Given the description of an element on the screen output the (x, y) to click on. 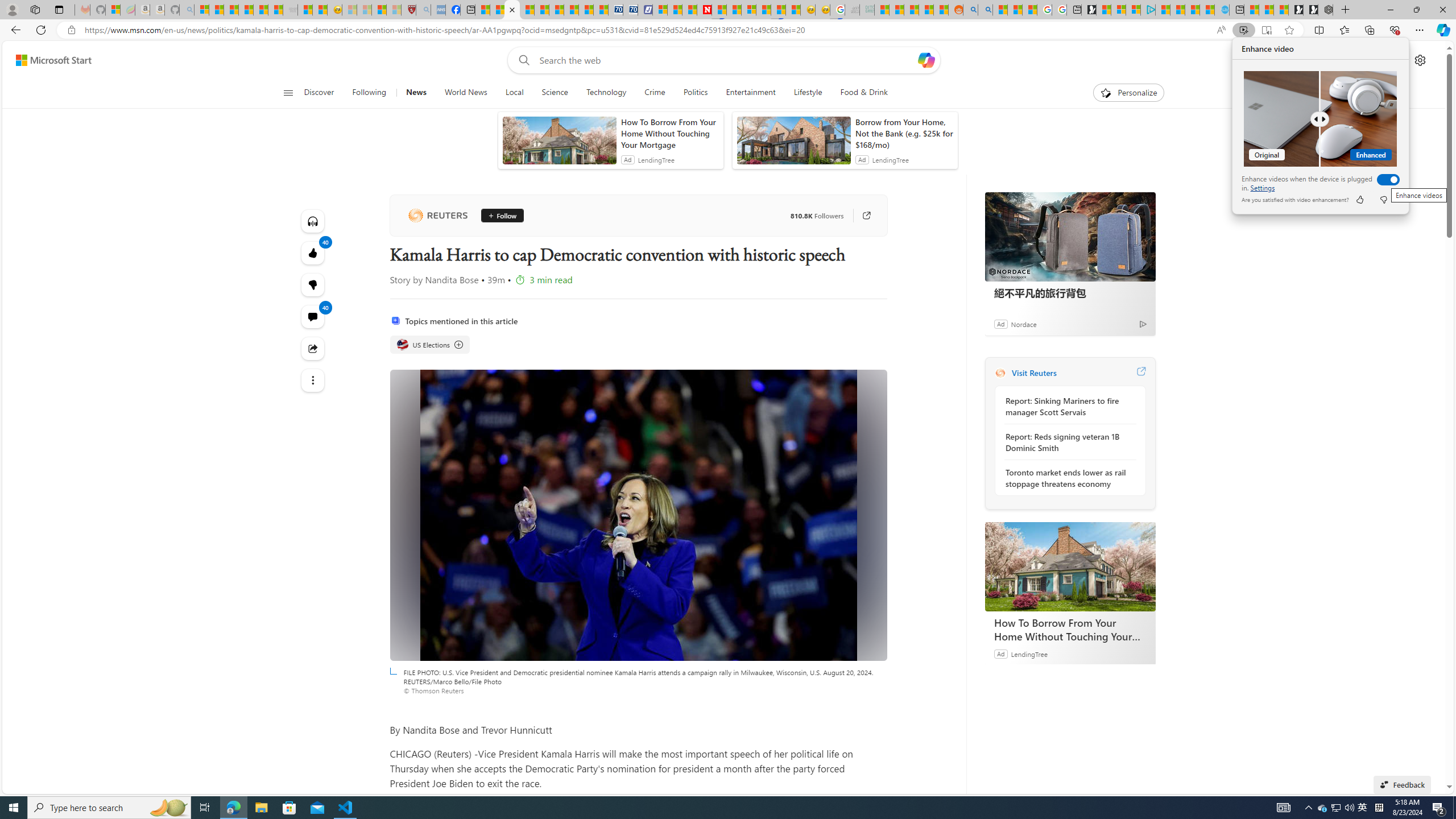
Running applications (700, 807)
Enhance videos (1385, 179)
Lifestyle (1322, 807)
Web search (807, 92)
News (520, 60)
Personalize (415, 92)
Politics (1128, 92)
12 Popular Science Lies that Must be Corrected - Sleeping (694, 92)
New tab (393, 9)
dislike (1236, 9)
Action Center, 2 new notifications (1383, 199)
